Given the description of an element on the screen output the (x, y) to click on. 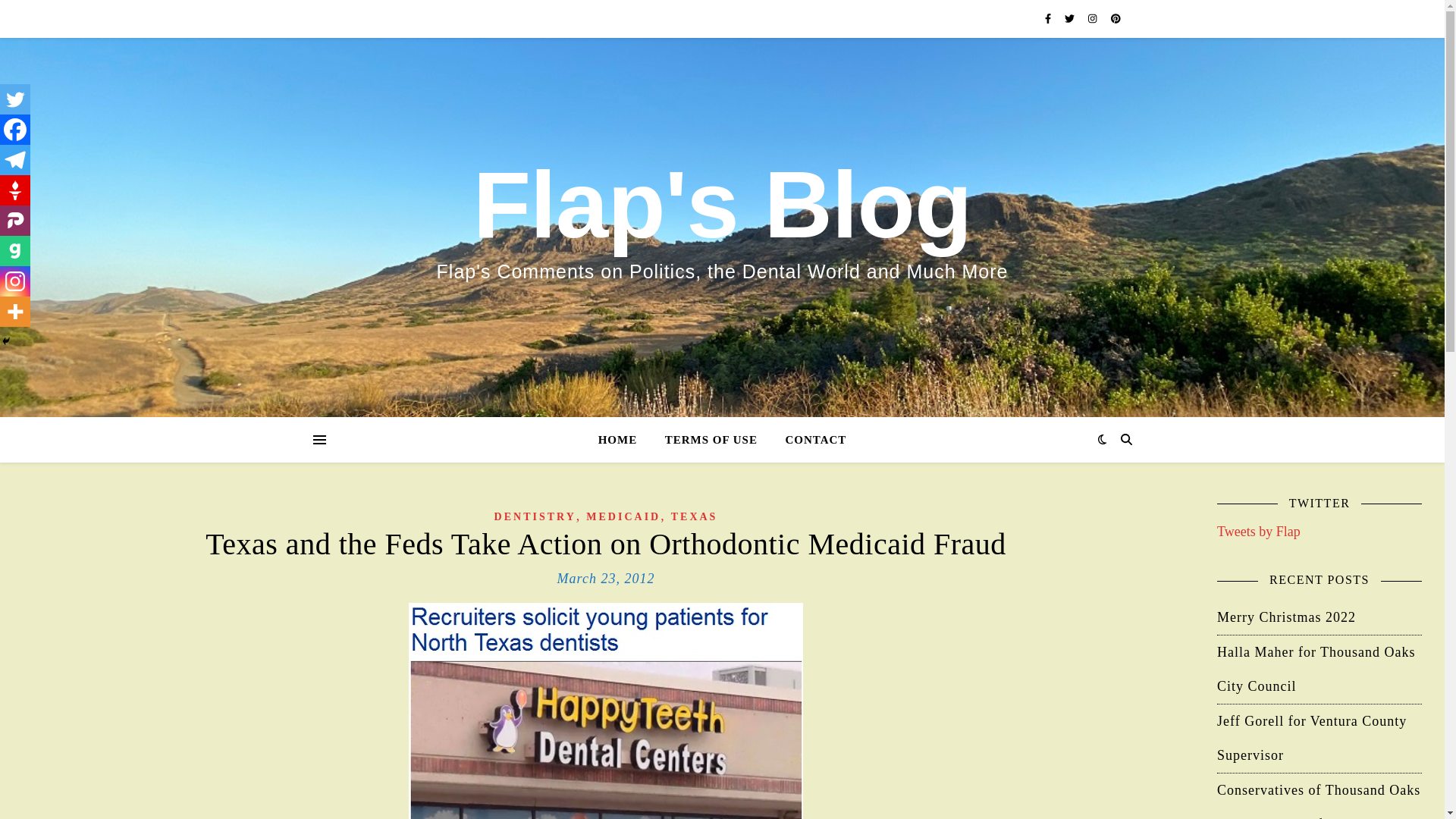
More (15, 311)
CONTACT (809, 439)
Jeff Gorell for Ventura County Supervisor (1311, 737)
Halla Maher for Thousand Oaks City Council (1316, 668)
Merry Christmas 2022 (1286, 616)
TERMS OF USE (711, 439)
Facebook (15, 129)
Twitter (15, 99)
MEDICAID (623, 516)
Gettr (15, 190)
Telegram (15, 159)
HOME (623, 439)
Instagram (15, 281)
TEXAS (694, 516)
Tweets by Flap (1258, 531)
